Given the description of an element on the screen output the (x, y) to click on. 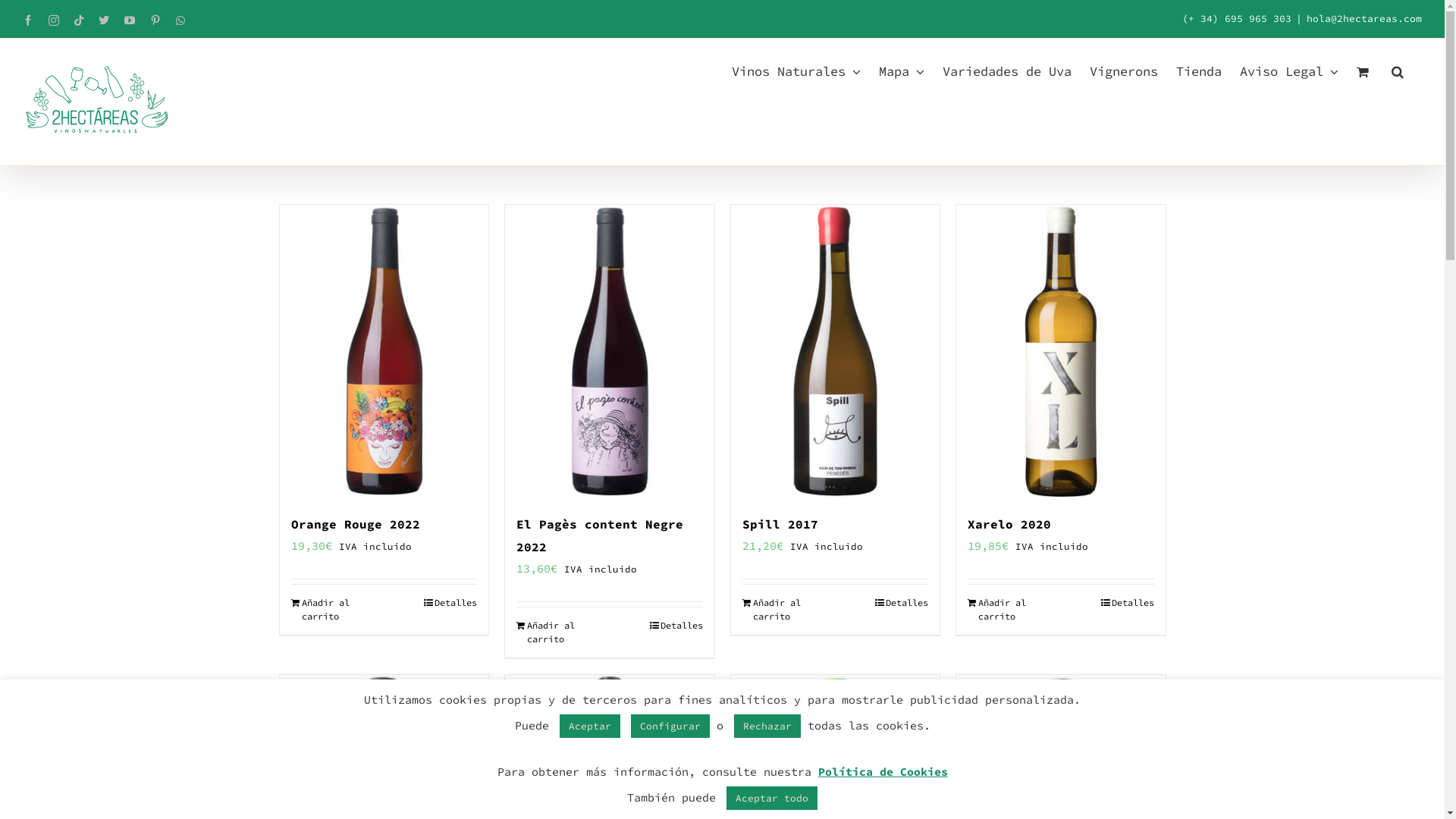
Tiktok Element type: text (78, 20)
WhatsApp Element type: text (180, 20)
Twitter Element type: text (103, 20)
Orange Rouge 2022 Element type: text (355, 523)
Facebook Element type: text (27, 20)
Aviso Legal Element type: text (1288, 70)
Xarelo 2020 Element type: text (1009, 523)
YouTube Element type: text (129, 20)
Vinos Naturales Element type: text (795, 70)
Vignerons Element type: text (1123, 70)
Variedades de Uva Element type: text (1006, 70)
Configurar Element type: text (669, 725)
Aceptar todo Element type: text (771, 797)
Detalles Element type: text (449, 602)
Instagram Element type: text (53, 20)
Buscar Element type: hover (1397, 70)
Tienda Element type: text (1198, 70)
Mapa Element type: text (901, 70)
Spill 2017 Element type: text (779, 523)
Detalles Element type: text (901, 602)
Detalles Element type: text (1127, 602)
Aceptar Element type: text (589, 725)
Pinterest Element type: text (155, 20)
Detalles Element type: text (675, 625)
Rechazar Element type: text (767, 725)
hola@2hectareas.com Element type: text (1363, 18)
